Given the description of an element on the screen output the (x, y) to click on. 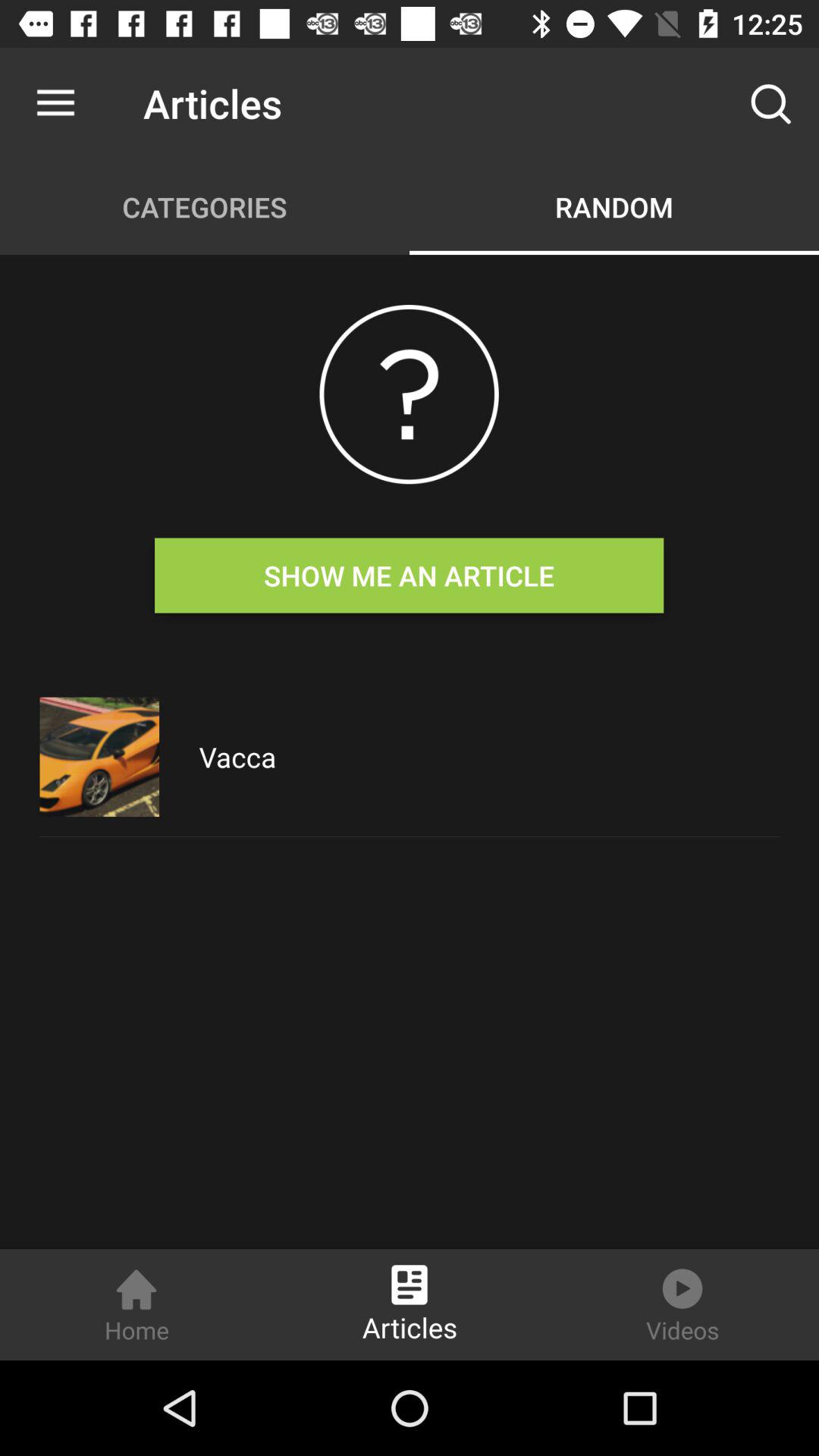
press the icon to the left of the articles icon (55, 103)
